Given the description of an element on the screen output the (x, y) to click on. 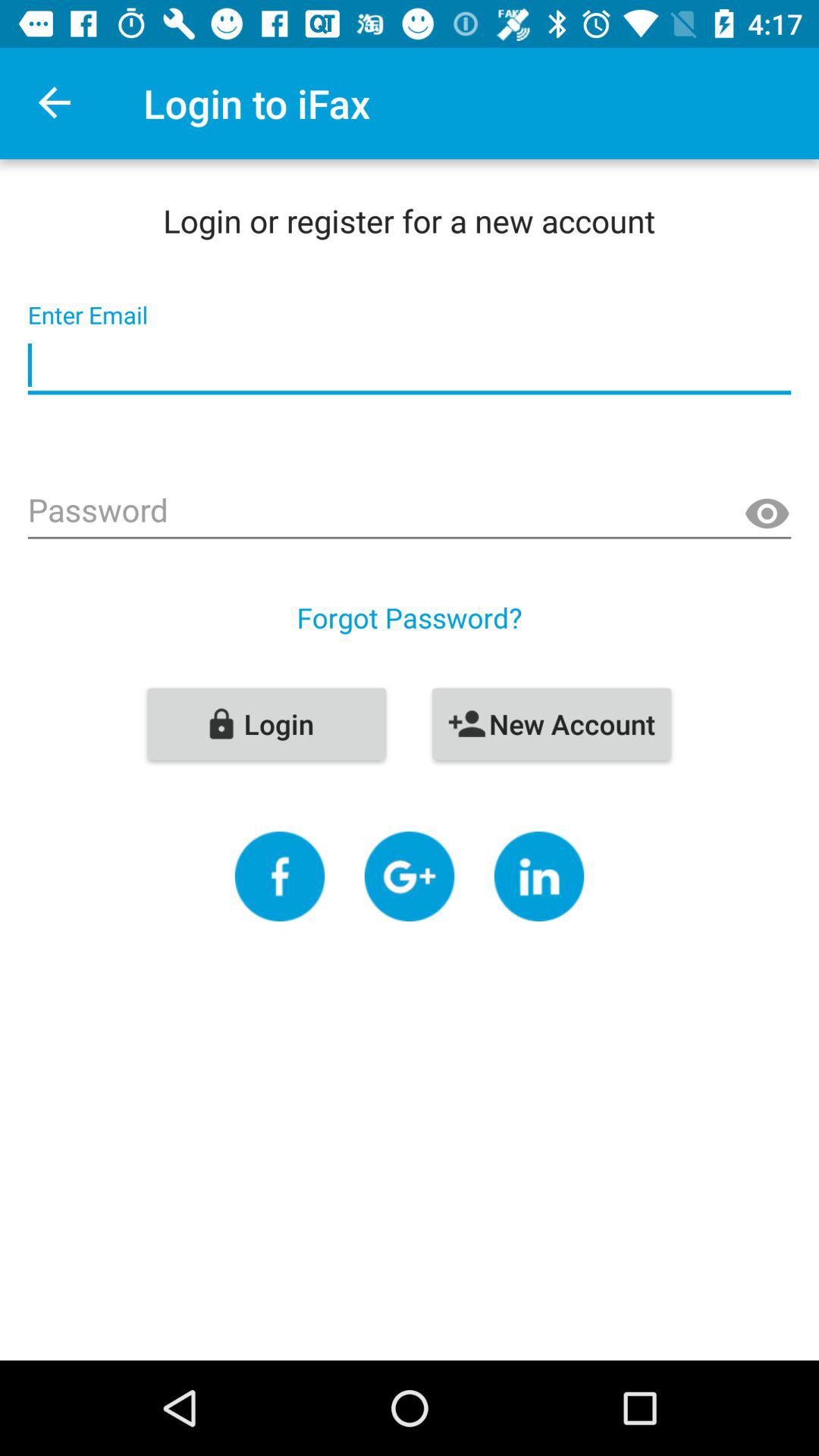
open selection (279, 876)
